Given the description of an element on the screen output the (x, y) to click on. 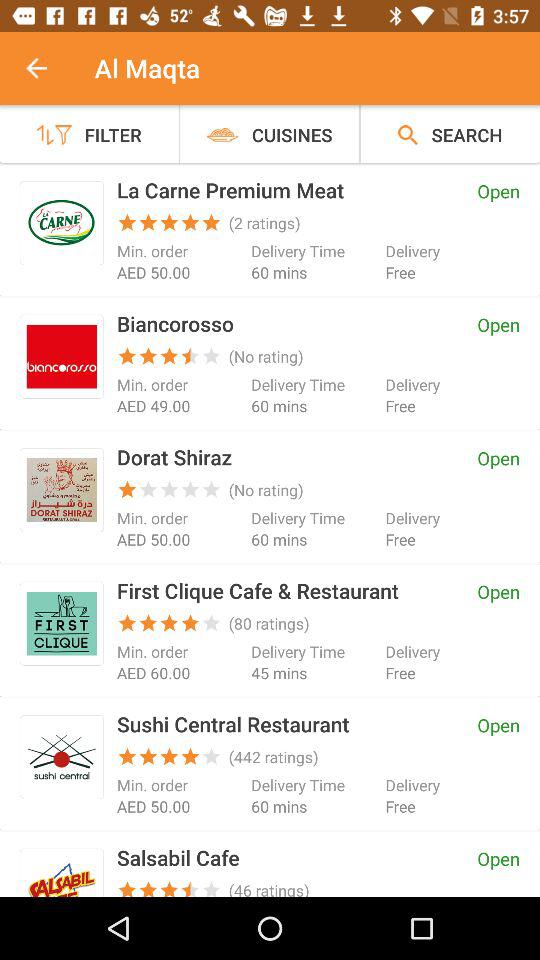
select the icon to the left of al maqta icon (47, 68)
